Given the description of an element on the screen output the (x, y) to click on. 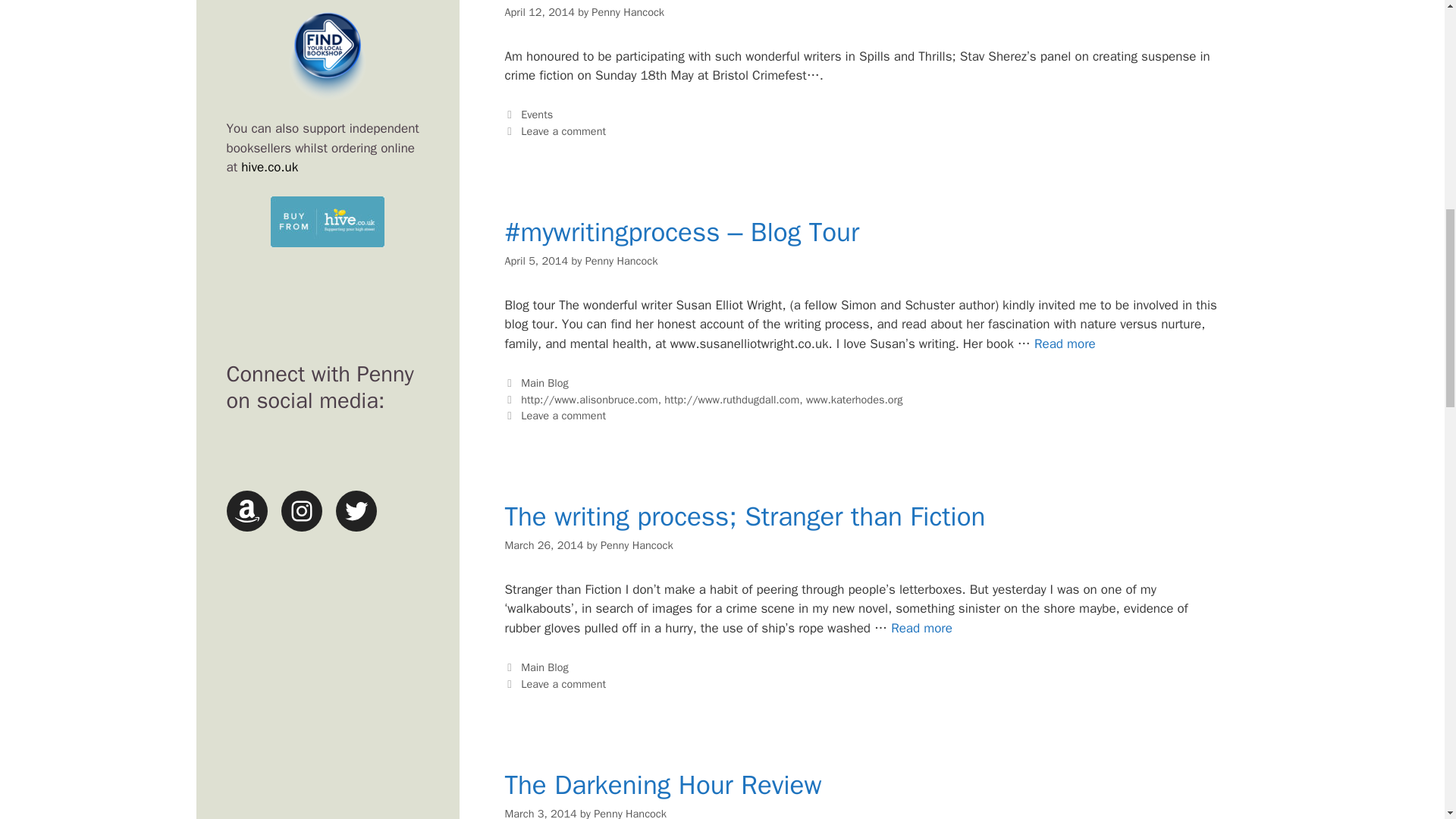
The writing process; Stranger than Fiction (921, 627)
Penny Hancock (621, 260)
www.katerhodes.org (854, 399)
View all posts by Penny Hancock (621, 260)
Read more (921, 627)
Leave a comment (563, 415)
Events (537, 114)
Main Blog (545, 382)
View all posts by Penny Hancock (630, 812)
The writing process; Stranger than Fiction (745, 516)
